Given the description of an element on the screen output the (x, y) to click on. 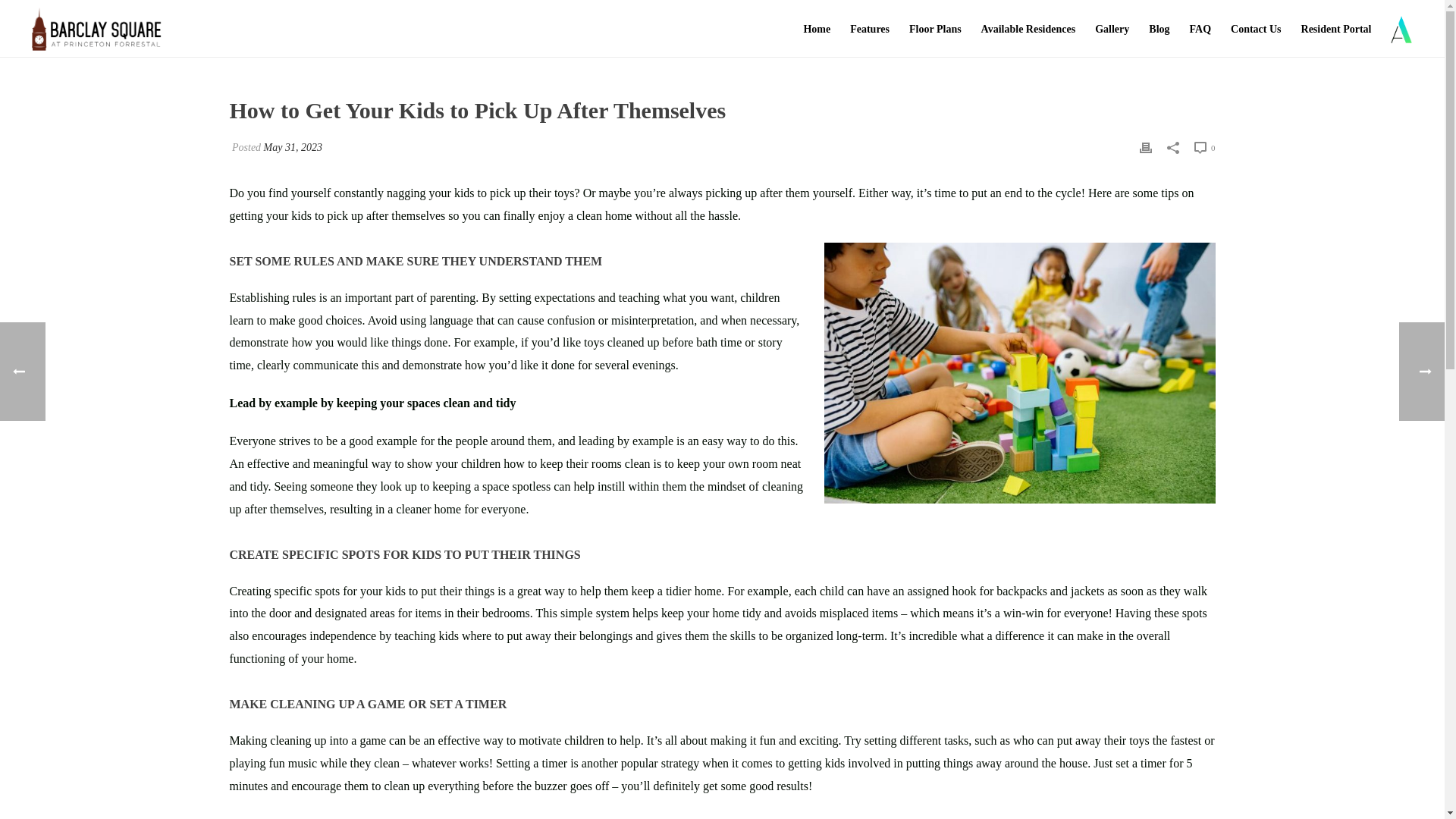
Blog (1158, 29)
Blog (1158, 29)
Resident Portal (1336, 29)
Resident Portal (1336, 29)
Gallery (1111, 29)
Floor Plans (935, 29)
Home (816, 29)
Available Residences (1028, 29)
Features (869, 29)
Home (816, 29)
